Given the description of an element on the screen output the (x, y) to click on. 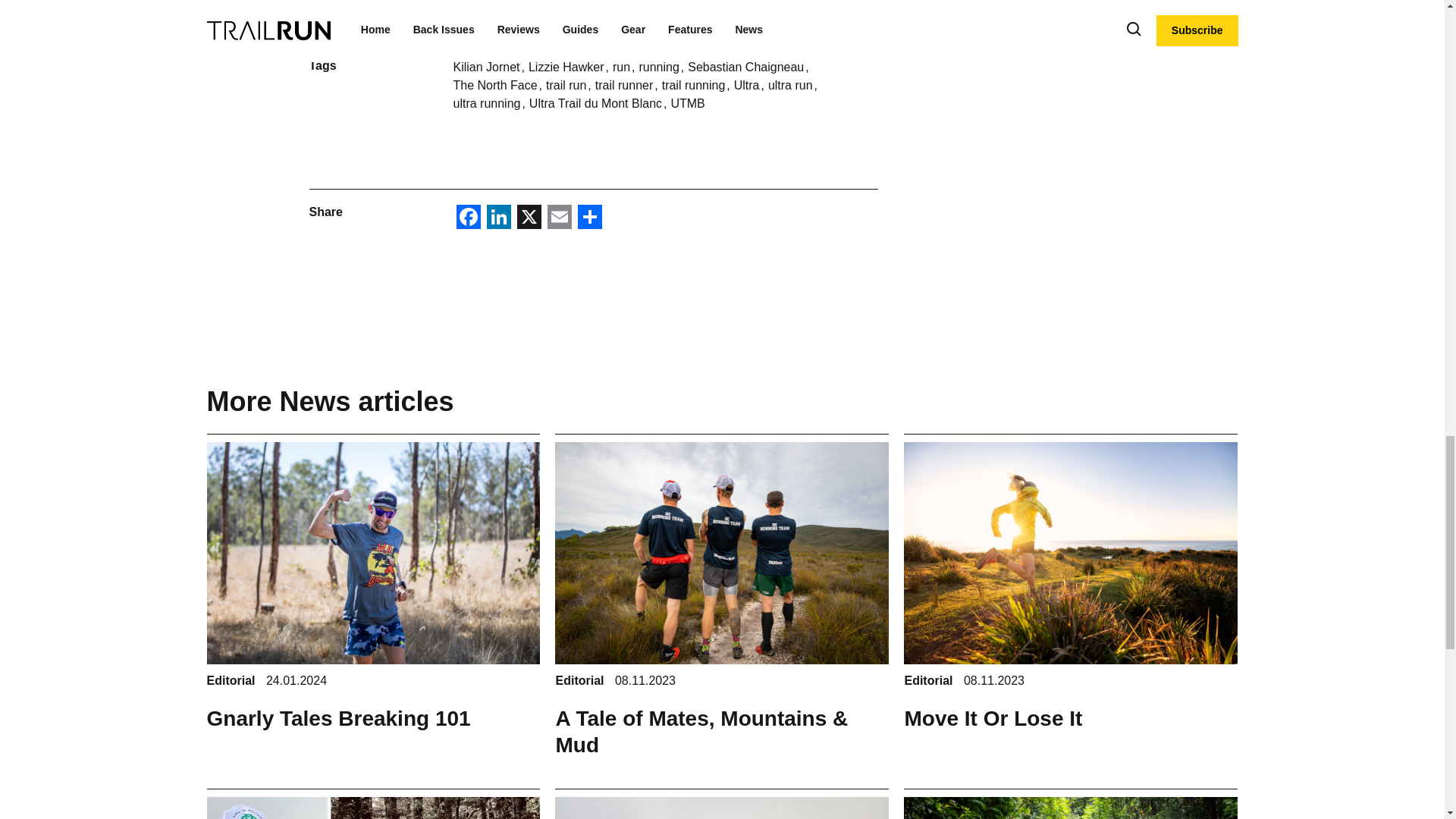
Facebook (467, 218)
LinkedIn (498, 218)
Lizzie Hawker (567, 66)
Kilian Jornet (488, 66)
Email (559, 218)
X (528, 218)
